Given the description of an element on the screen output the (x, y) to click on. 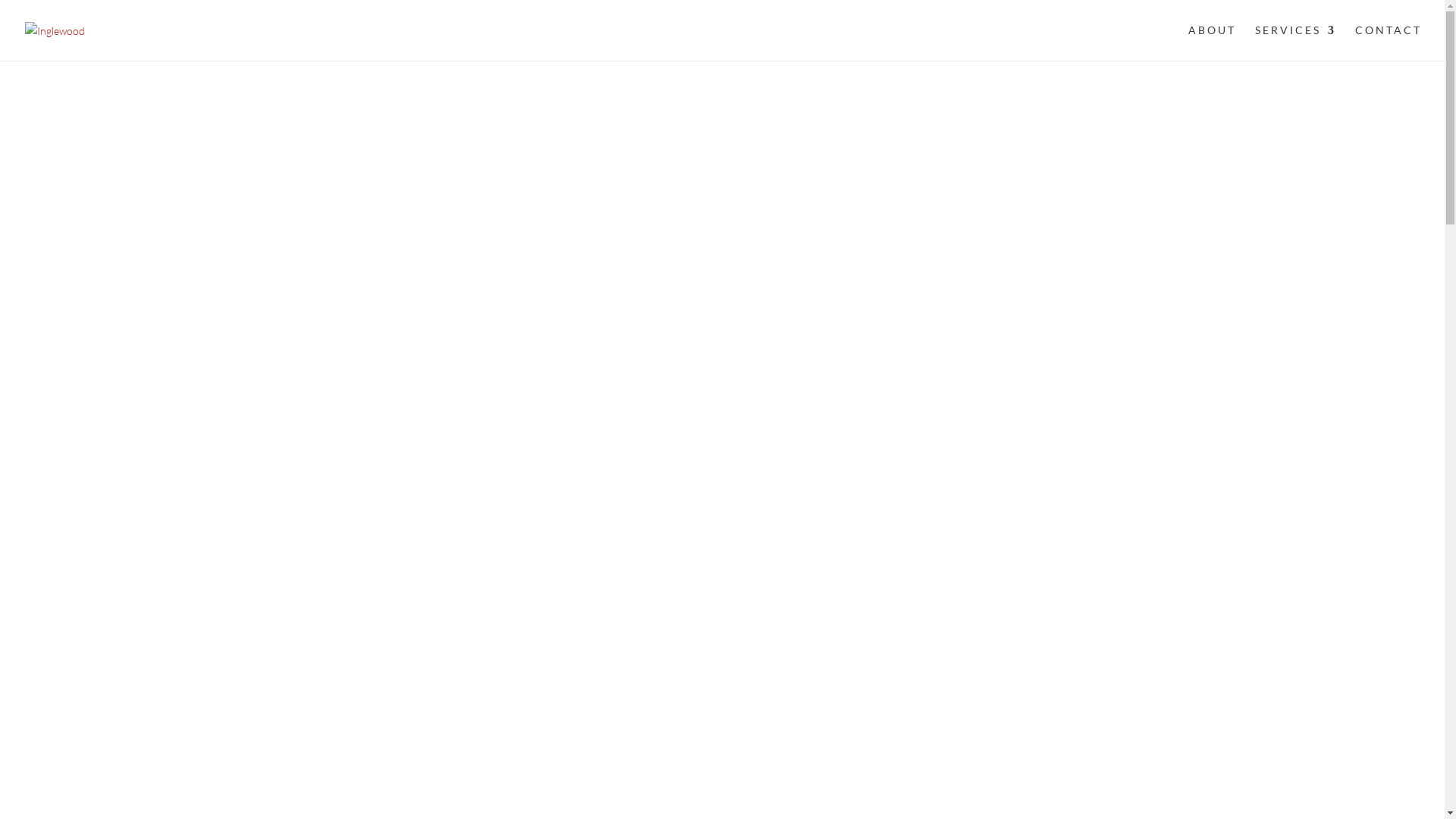
CONTACT Element type: text (1388, 42)
ABOUT Element type: text (1212, 42)
SERVICES Element type: text (1295, 42)
